Given the description of an element on the screen output the (x, y) to click on. 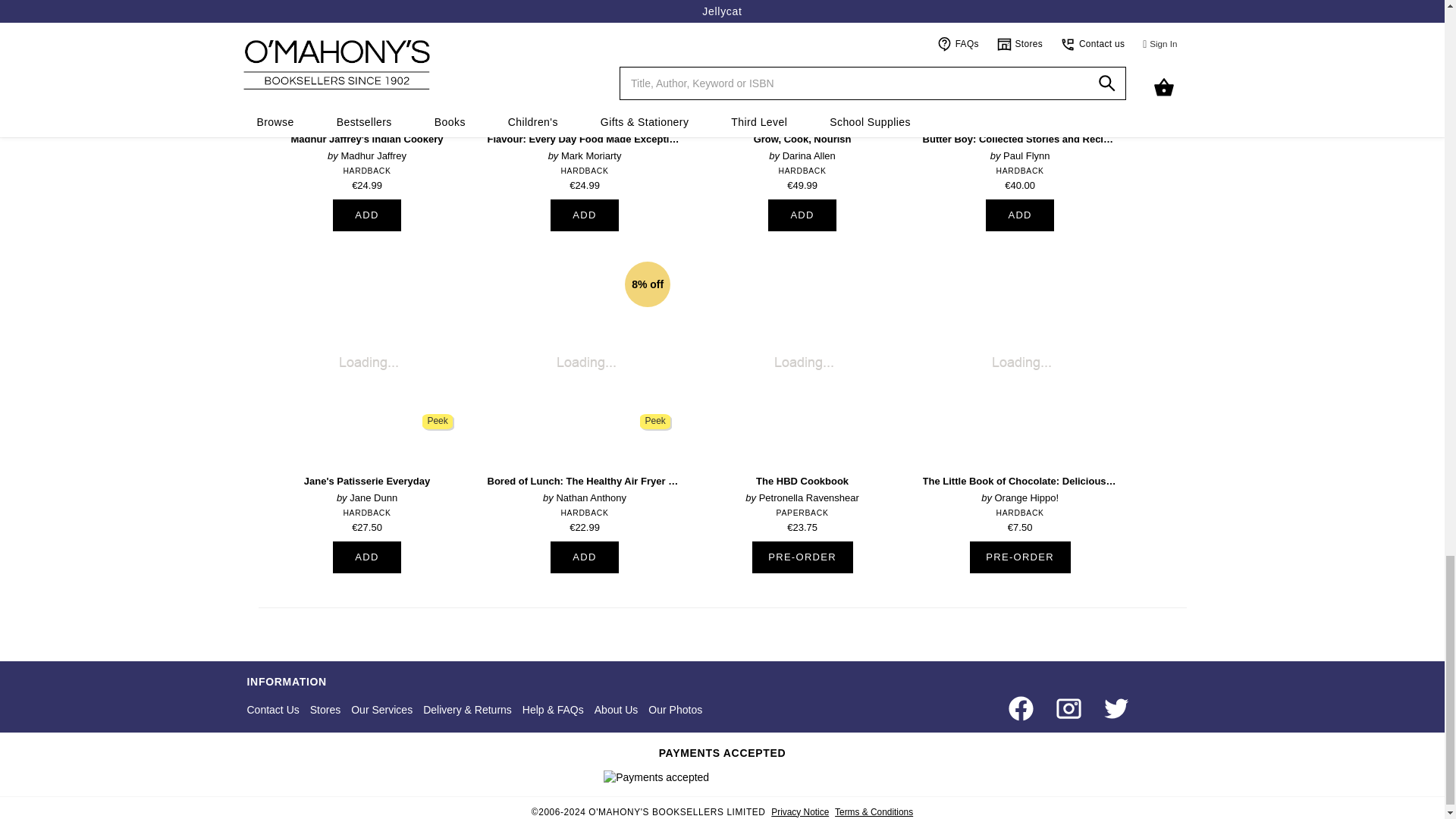
See more about Grow, Cook, Nourish by Darina Allen (801, 94)
